Given the description of an element on the screen output the (x, y) to click on. 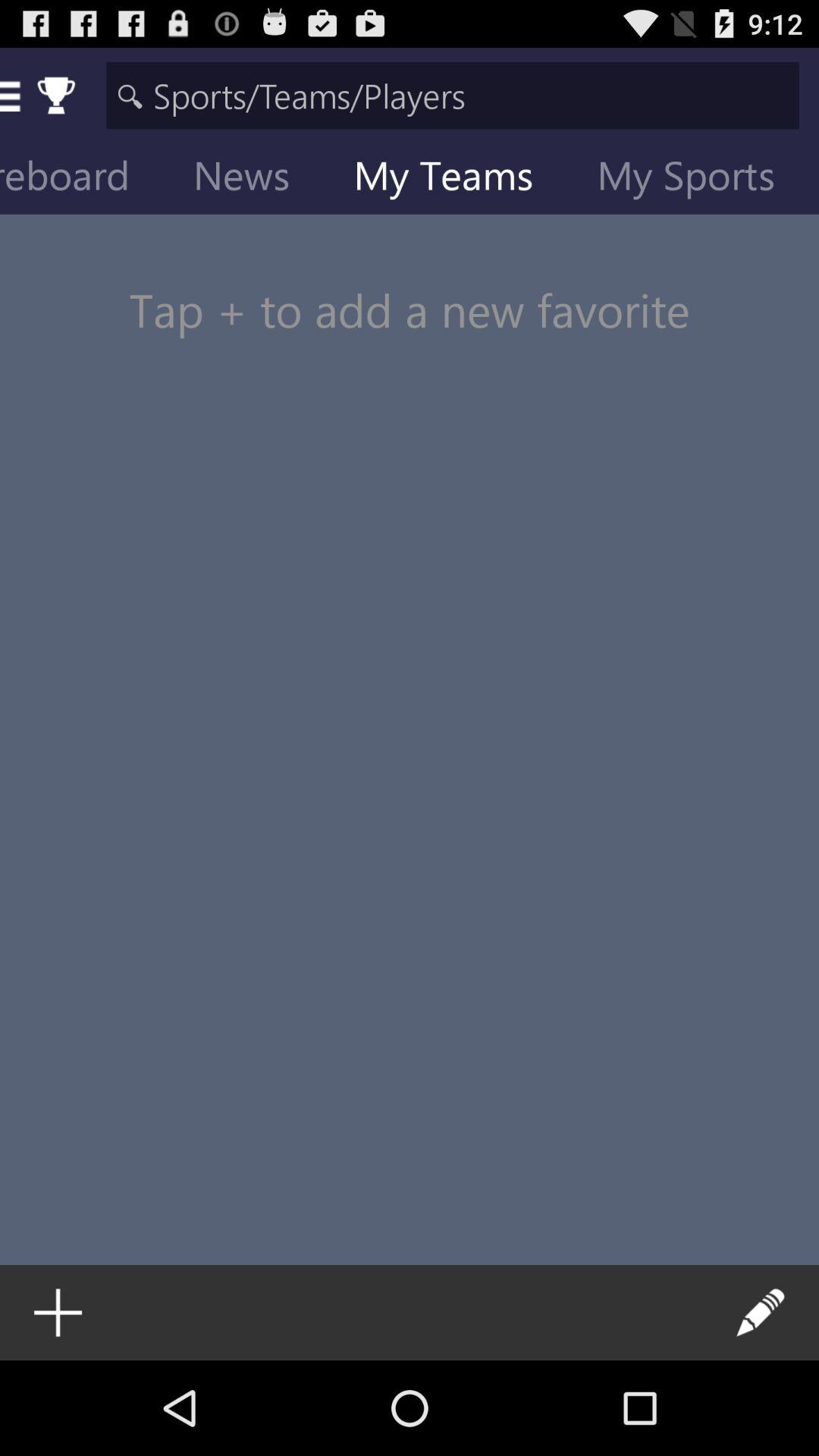
turn on icon at the top right corner (698, 178)
